Given the description of an element on the screen output the (x, y) to click on. 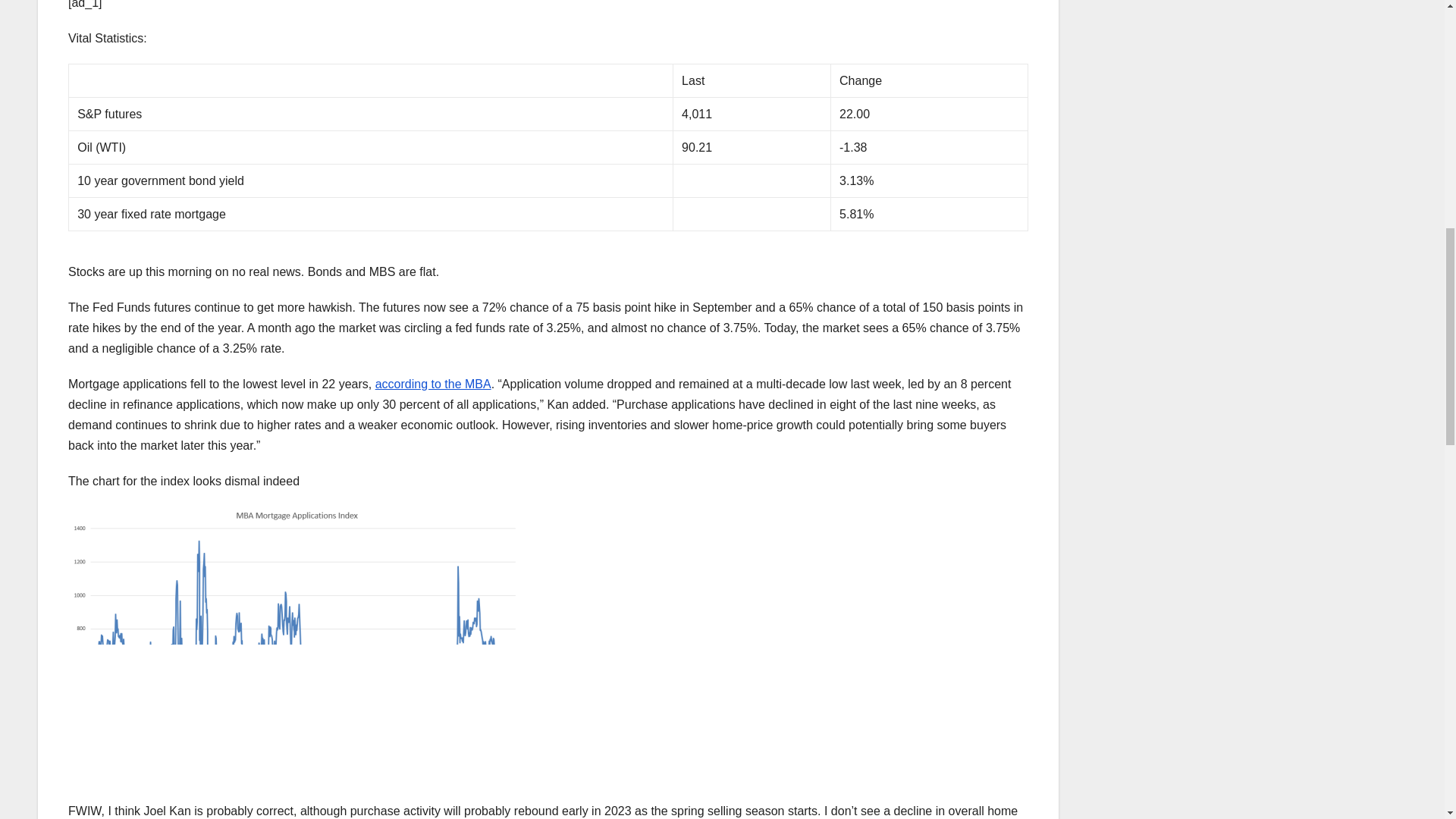
according to the MBA (433, 383)
